Given the description of an element on the screen output the (x, y) to click on. 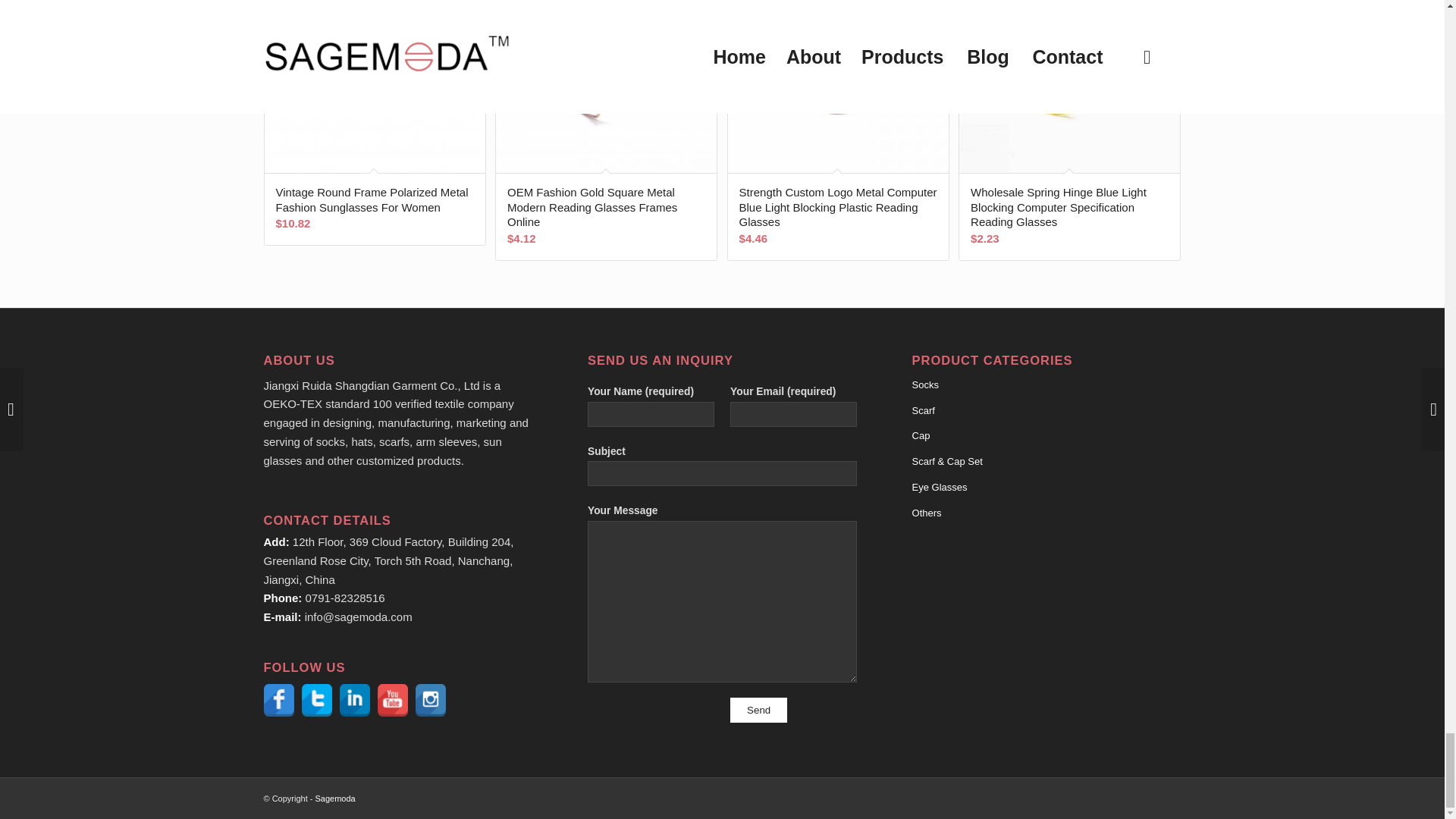
Send (758, 709)
